Given the description of an element on the screen output the (x, y) to click on. 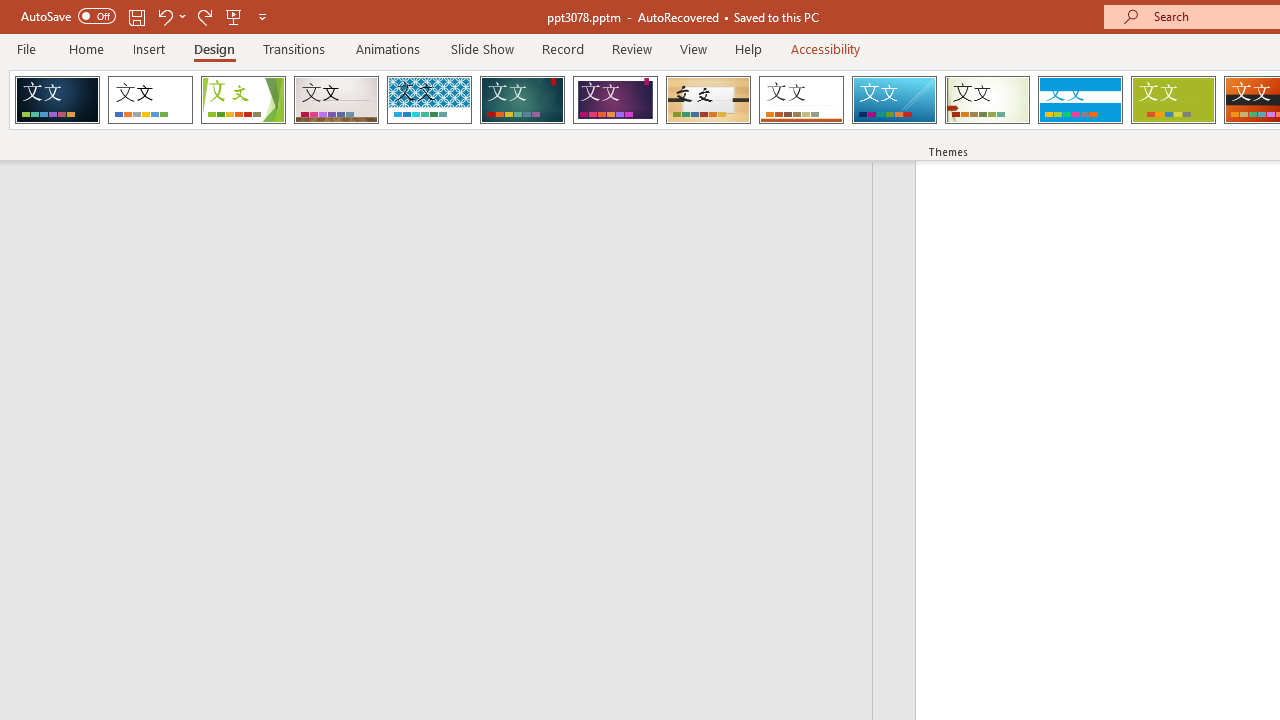
Banded (1080, 100)
Integral (429, 100)
Slice (893, 100)
Ion (522, 100)
Outline (445, 202)
Retrospect (801, 100)
Wisp (987, 100)
